Given the description of an element on the screen output the (x, y) to click on. 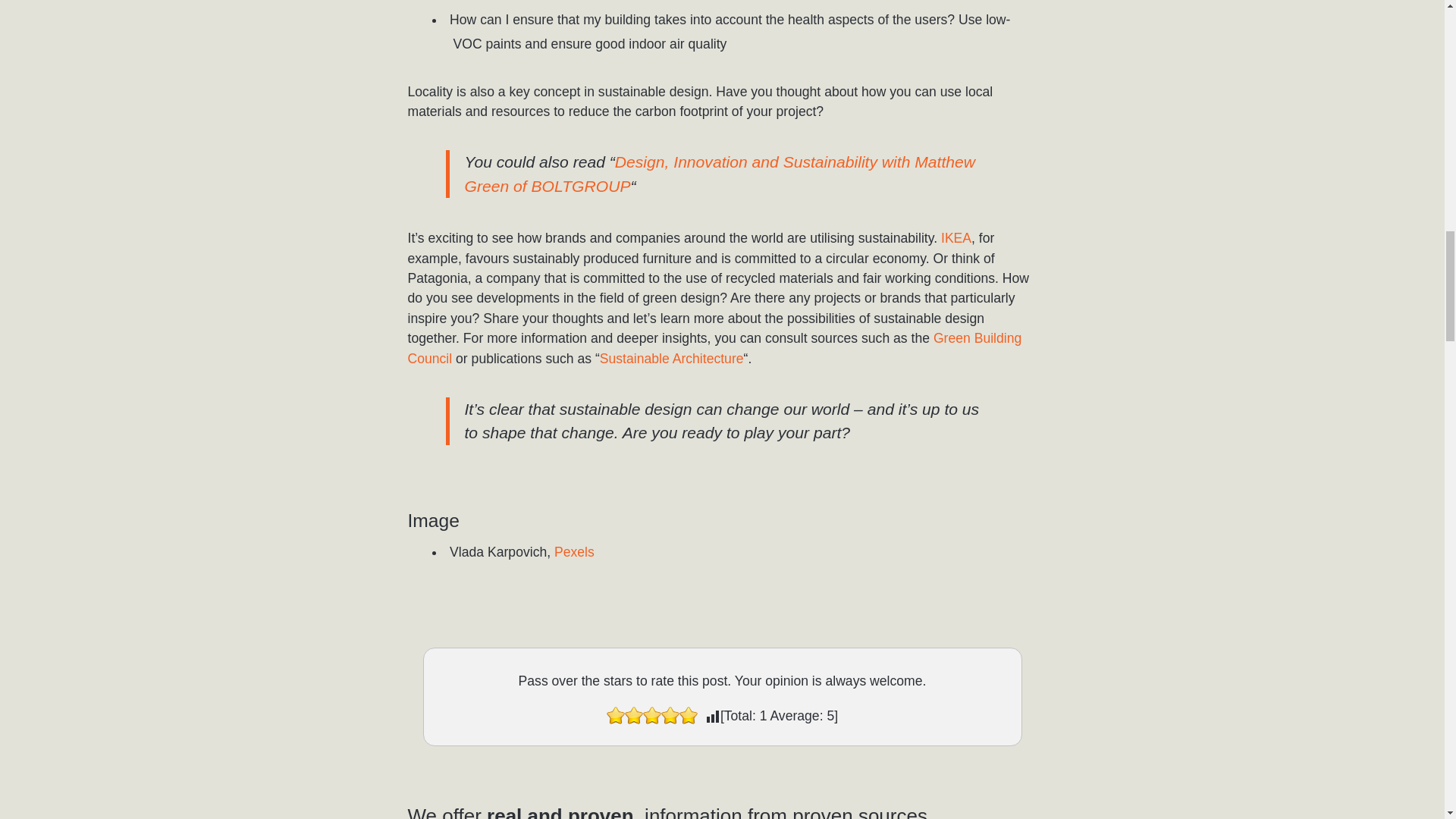
Pexels (574, 551)
Sustainable Architecture (671, 358)
IKEA (955, 237)
Green Building Council (714, 347)
